Given the description of an element on the screen output the (x, y) to click on. 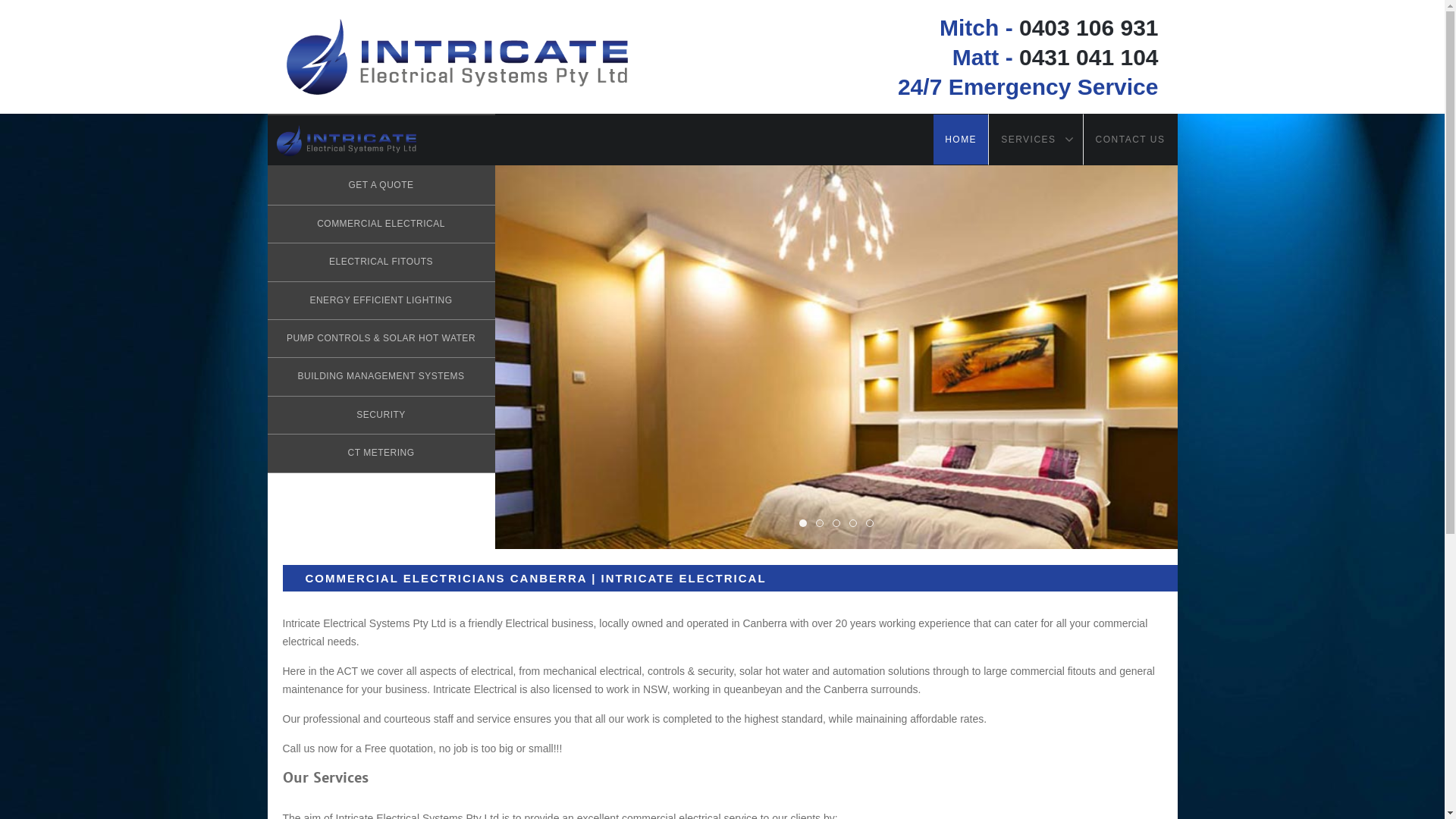
BUILDING MANAGEMENT SYSTEMS Element type: text (380, 376)
PUMP CONTROLS & SOLAR HOT WATER Element type: text (380, 338)
GET A QUOTE Element type: text (380, 185)
pipes2 Element type: text (836, 523)
SECURITY Element type: text (380, 415)
ELECTRICAL FITOUTS Element type: text (380, 262)
vans Element type: text (852, 523)
pipes Element type: text (819, 523)
HOME Element type: text (960, 139)
CT METERING Element type: text (380, 453)
leds Element type: text (802, 523)
ENERGY EFFICIENT LIGHTING Element type: text (380, 301)
0403 106 931 Element type: text (1088, 27)
vans2 Element type: text (869, 523)
CONTACT US Element type: text (1130, 139)
SERVICES Element type: text (1035, 139)
COMMERCIAL ELECTRICAL Element type: text (380, 224)
0431 041 104 Element type: text (1088, 56)
